Given the description of an element on the screen output the (x, y) to click on. 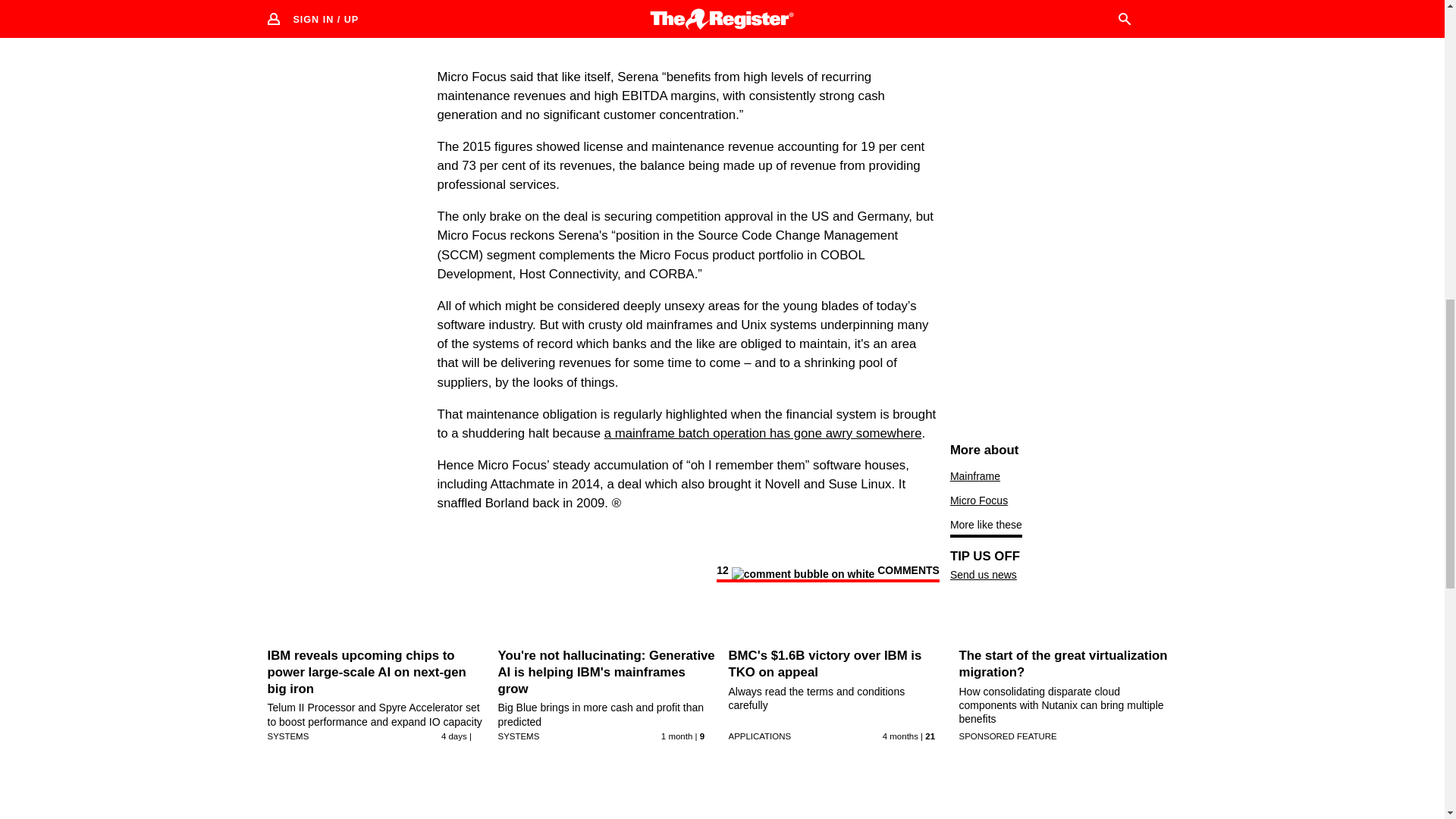
25 Jul 2024 6:33 (677, 736)
27 Aug 2024 16:56 (454, 736)
1 May 2024 18:29 (900, 736)
View comments on this article (827, 573)
